Given the description of an element on the screen output the (x, y) to click on. 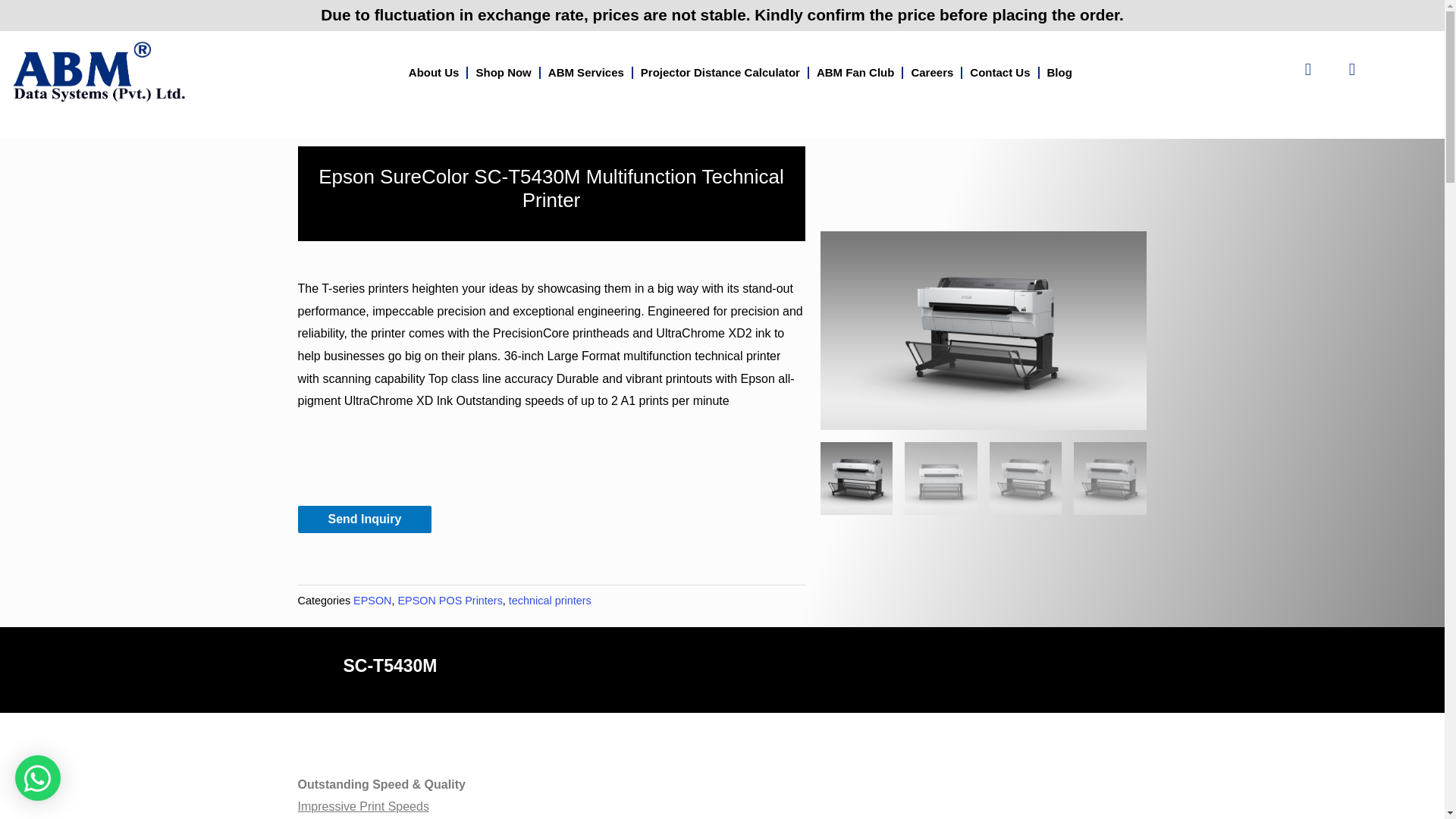
About Us (434, 72)
Shop Now (502, 72)
Careers (931, 72)
Contact Us (999, 72)
ABM Fan Club (855, 72)
Blog (1059, 72)
Projector Distance Calculator (720, 72)
ABM Services (585, 72)
